Given the description of an element on the screen output the (x, y) to click on. 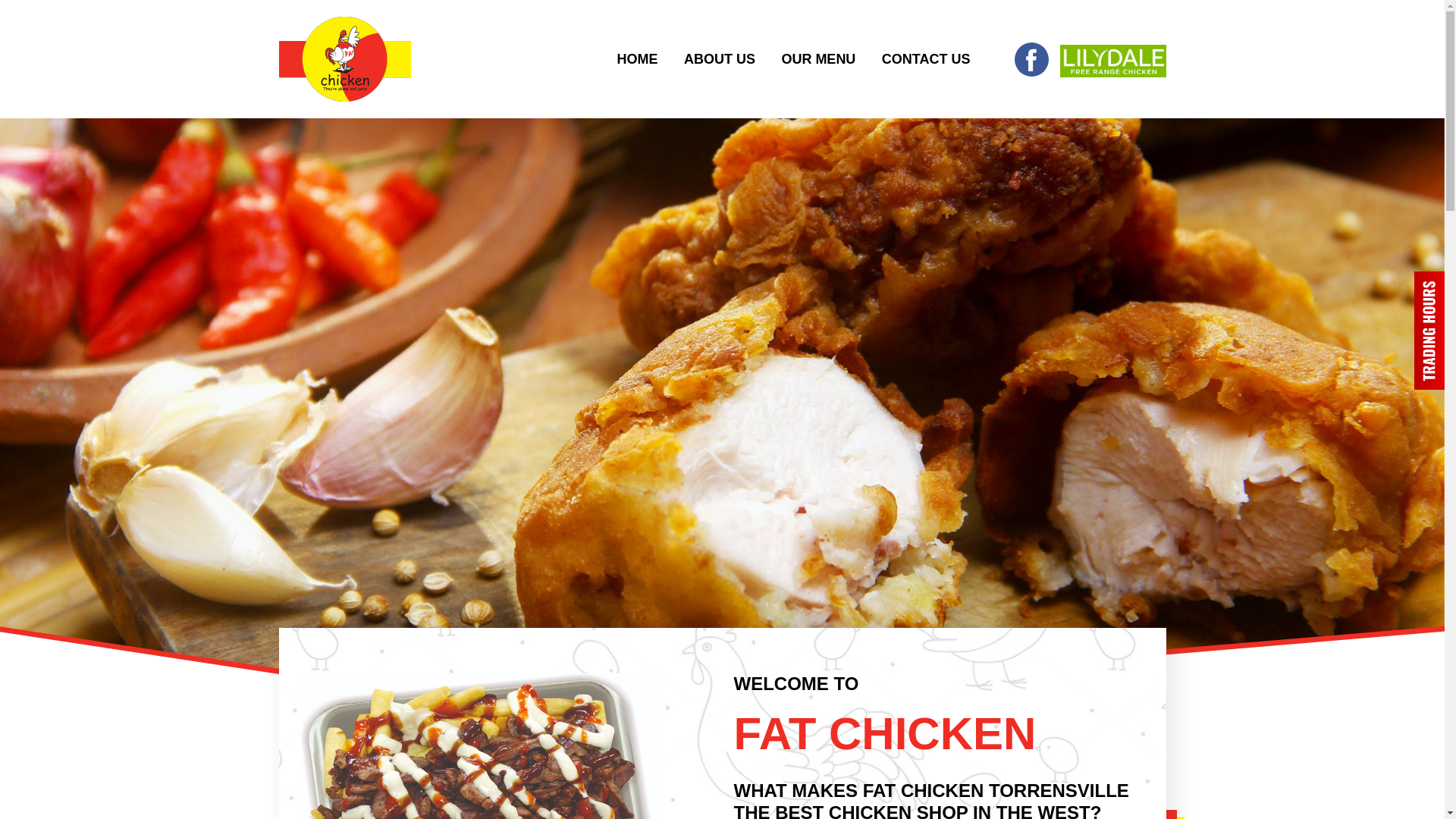
OUR MENU Element type: text (817, 59)
ABOUT US Element type: text (719, 59)
HOME Element type: text (636, 59)
Fat Chicken Element type: hover (345, 58)
CONTACT US Element type: text (926, 59)
